Given the description of an element on the screen output the (x, y) to click on. 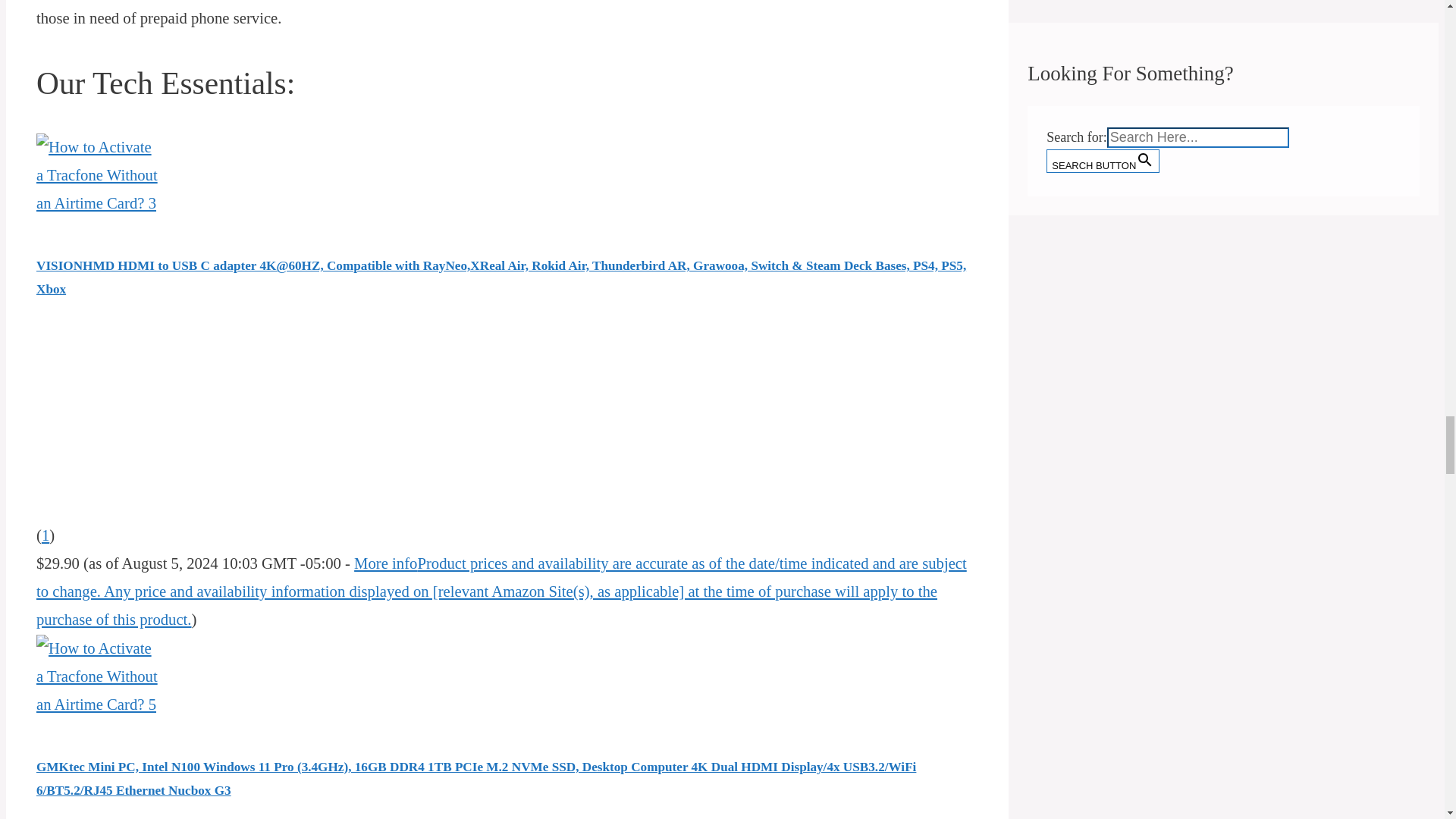
How to Activate a Tracfone Without an Airtime Card? 4 (96, 175)
How to Activate a Tracfone Without an Airtime Card? 6 (96, 676)
